Given the description of an element on the screen output the (x, y) to click on. 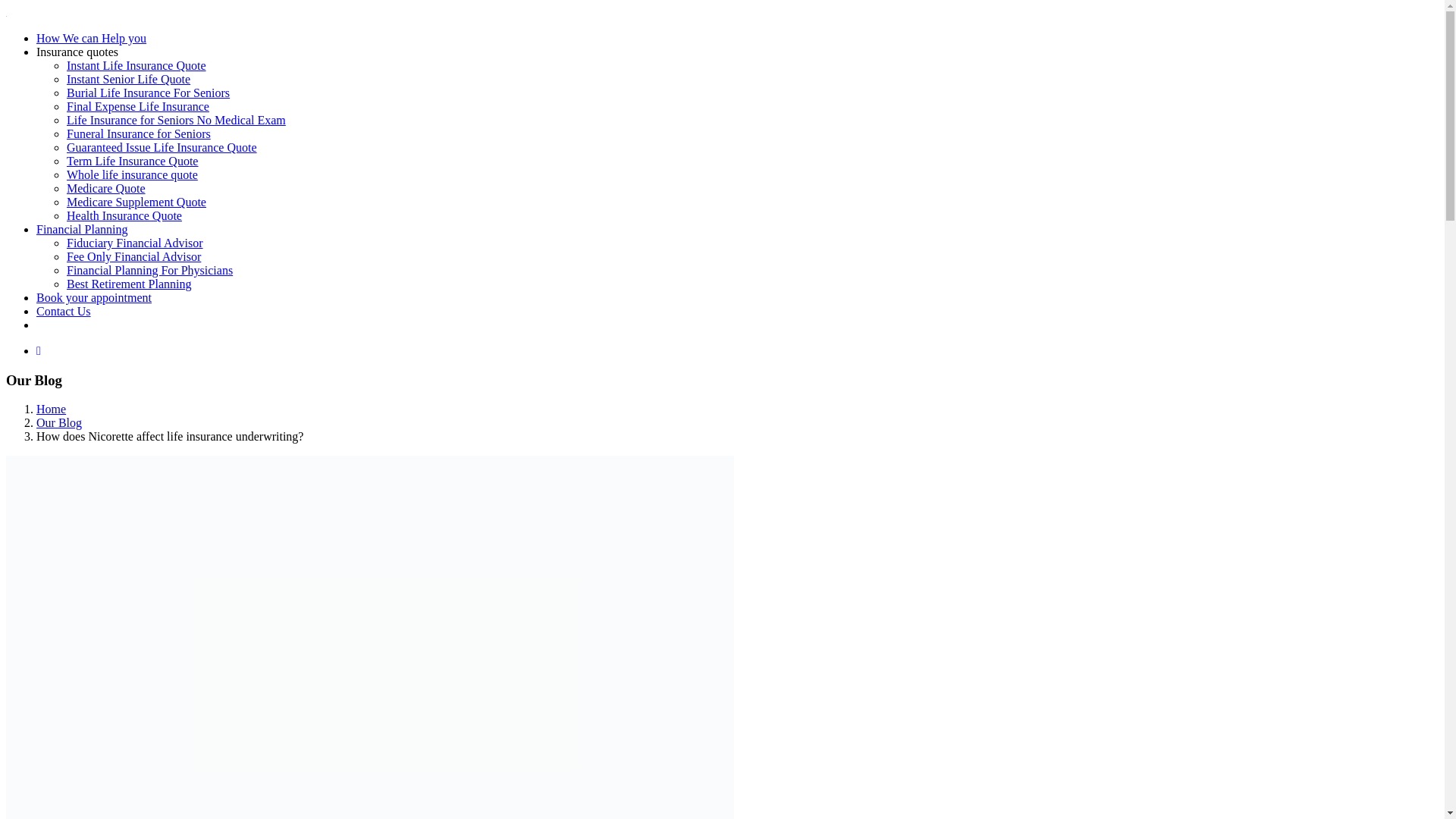
Burial Life Insurance For Seniors (148, 92)
Fiduciary Financial Advisor (134, 242)
Final Expense Life Insurance (137, 106)
Whole life insurance quote (132, 174)
How We can Help you (91, 38)
Guaranteed Issue Life Insurance Quote (161, 146)
Our Blog (58, 422)
Financial Planning (82, 228)
Medicare Quote (105, 187)
Contact Us (63, 310)
Instant Life Insurance Quote (135, 65)
Health Insurance Quote (124, 215)
Fee Only Financial Advisor (133, 256)
Life Insurance for Seniors No Medical Exam (175, 119)
Home (50, 408)
